Given the description of an element on the screen output the (x, y) to click on. 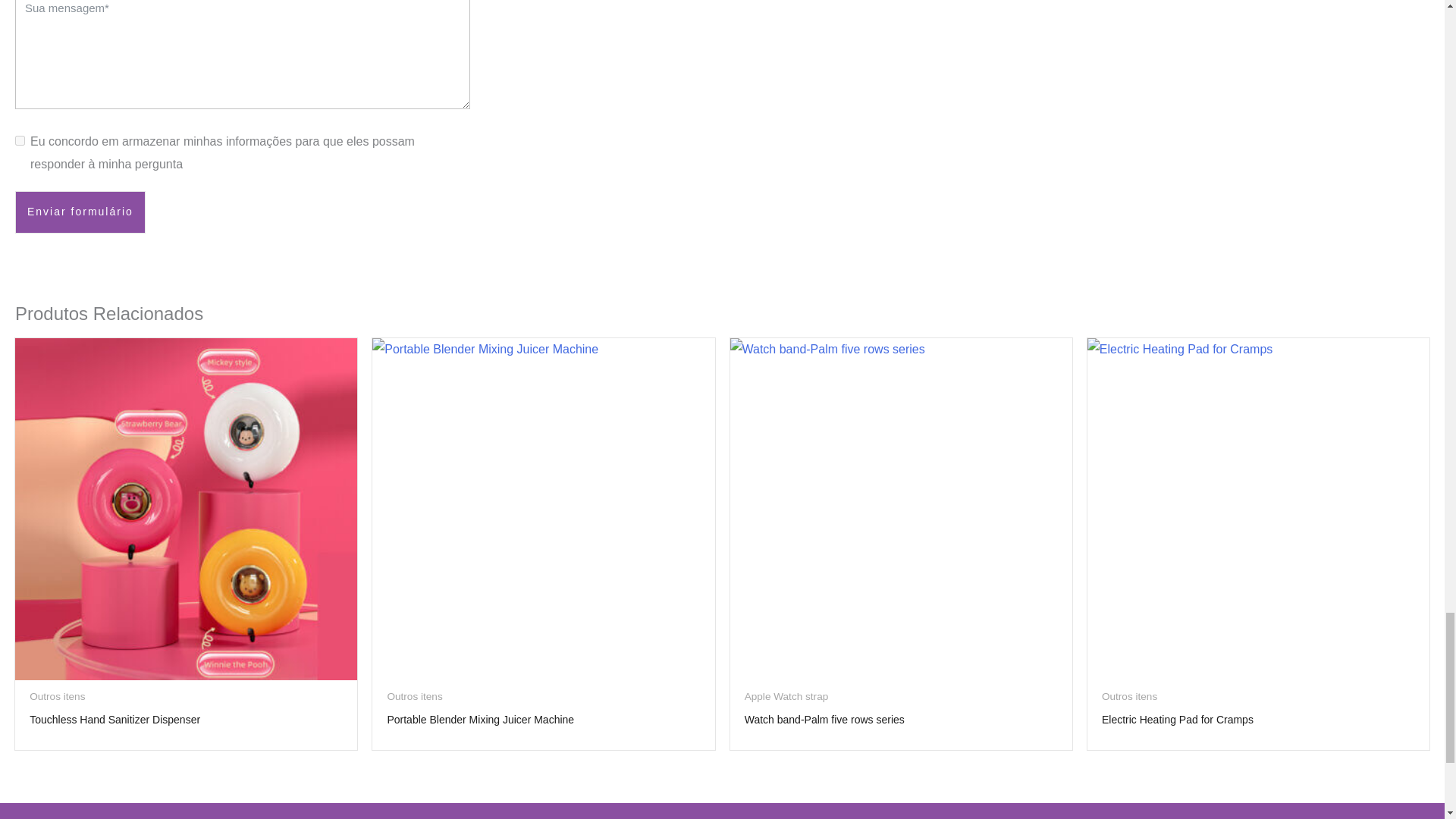
on (19, 140)
